Given the description of an element on the screen output the (x, y) to click on. 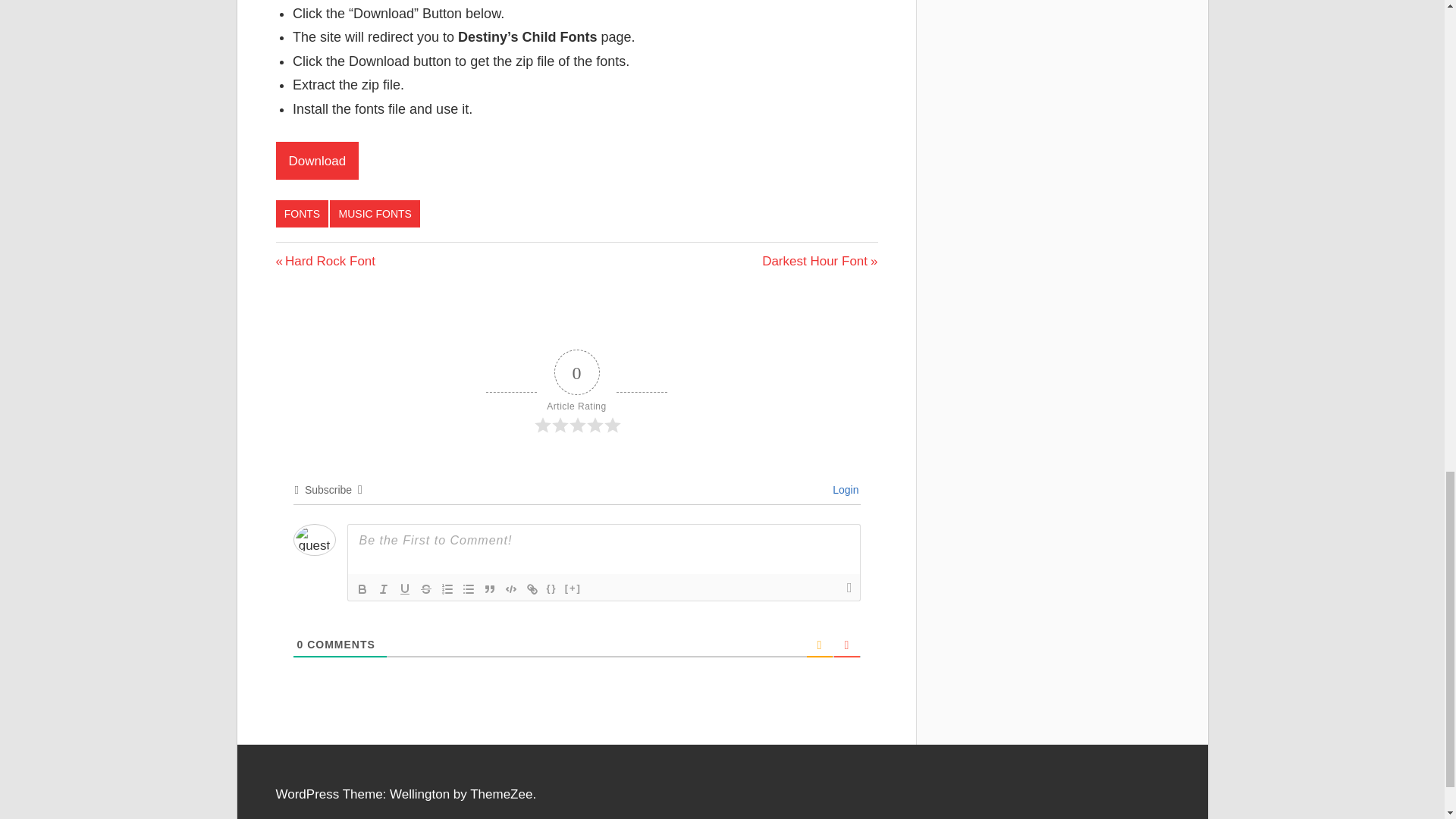
Strike (425, 588)
Login (843, 490)
FONTS (302, 213)
Blockquote (489, 588)
ordered (447, 588)
Source Code (551, 588)
Italic (383, 588)
MUSIC FONTS (375, 213)
Download (819, 260)
